Given the description of an element on the screen output the (x, y) to click on. 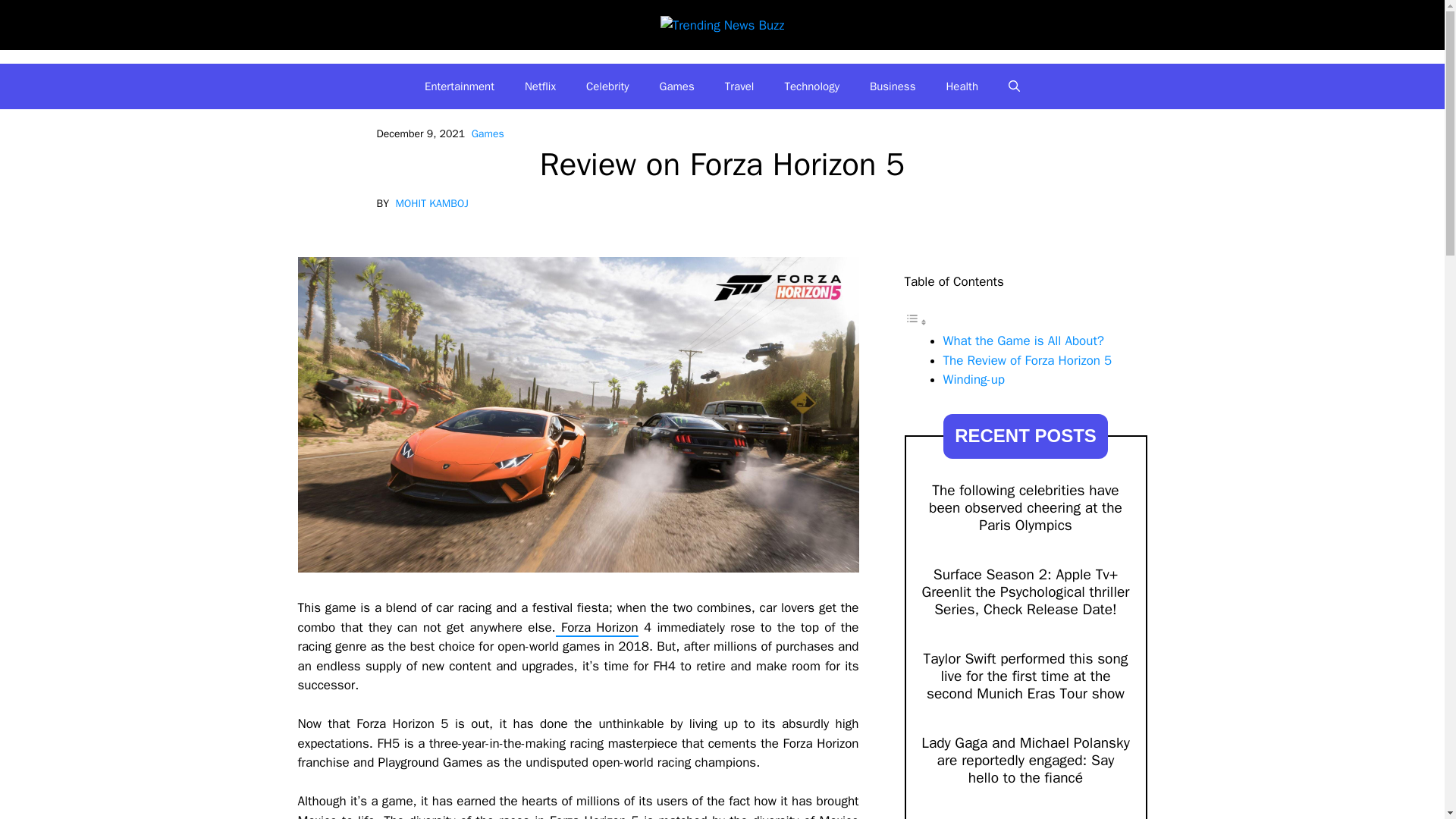
Technology (811, 85)
Games (487, 133)
Winding-up (973, 379)
Health (961, 85)
Entertainment (459, 85)
MOHIT KAMBOJ (432, 203)
Games (677, 85)
The Review of Forza Horizon 5 (1027, 360)
Forza Horizon (597, 628)
Travel (740, 85)
Netflix (539, 85)
Celebrity (607, 85)
Winding-up (973, 379)
